Given the description of an element on the screen output the (x, y) to click on. 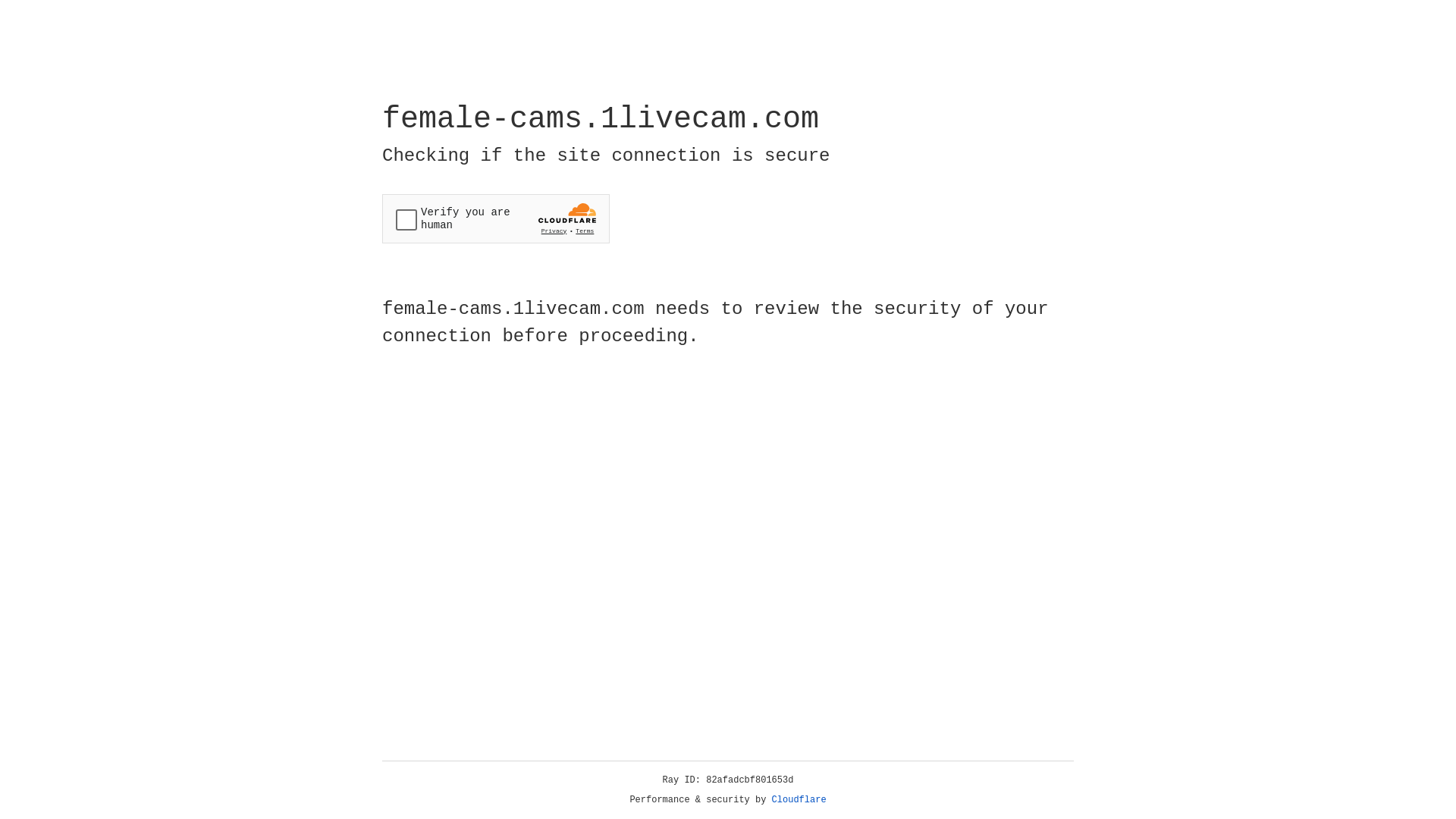
Cloudflare Element type: text (798, 799)
Widget containing a Cloudflare security challenge Element type: hover (495, 218)
